Given the description of an element on the screen output the (x, y) to click on. 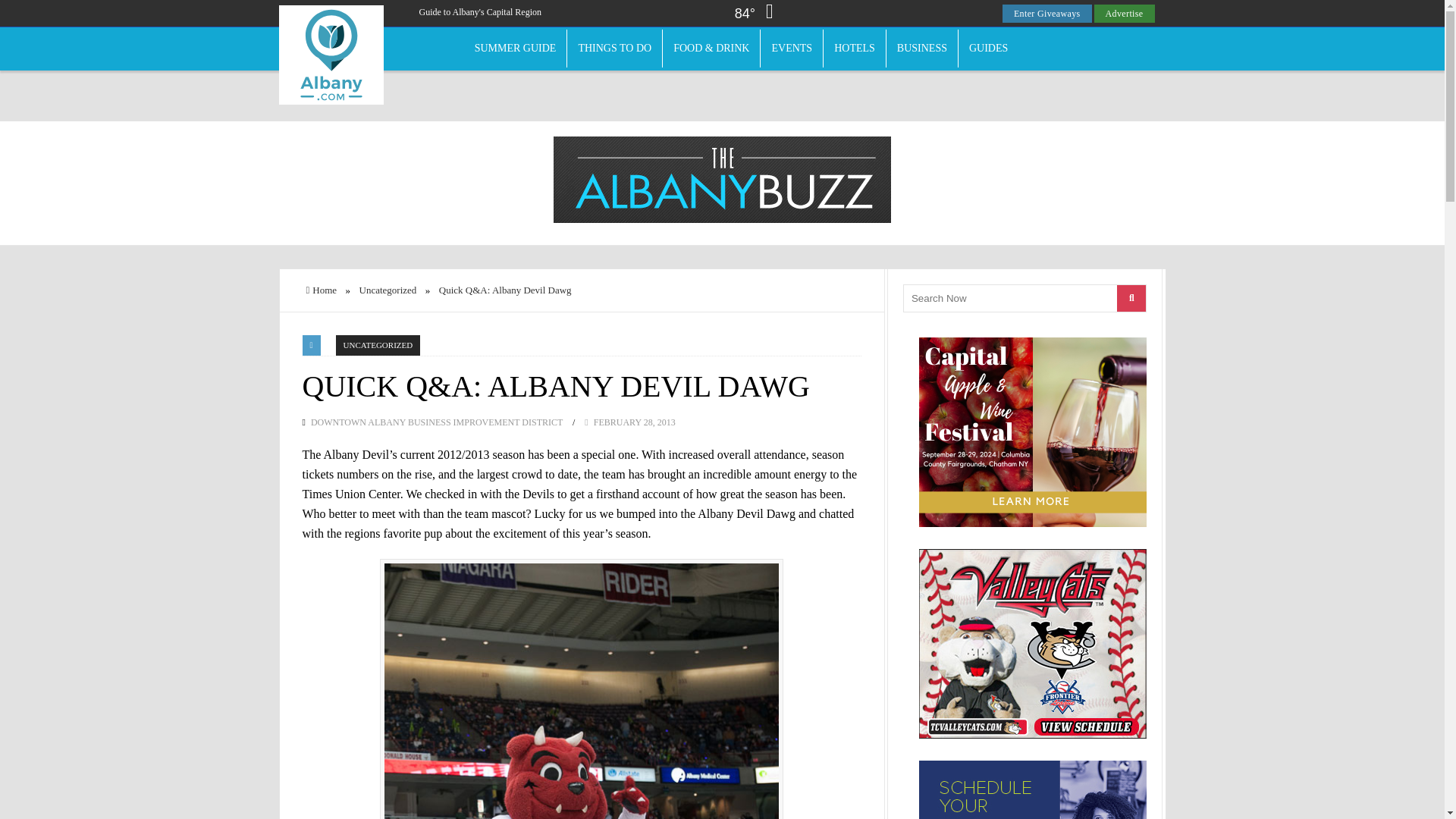
SUMMER GUIDE (515, 48)
THINGS TO DO (614, 48)
Tri-City Valleycats Display Ad (1032, 643)
Mannix Marketing Display Ad (1032, 789)
Weather (759, 14)
Posts by Downtown Albany Business Improvement District (436, 421)
View all posts in Uncategorized (378, 344)
Weather Forecast (758, 13)
Enter Giveaways (1047, 13)
Capital Wine fest - display ad (1032, 431)
Advertise (1124, 13)
